Given the description of an element on the screen output the (x, y) to click on. 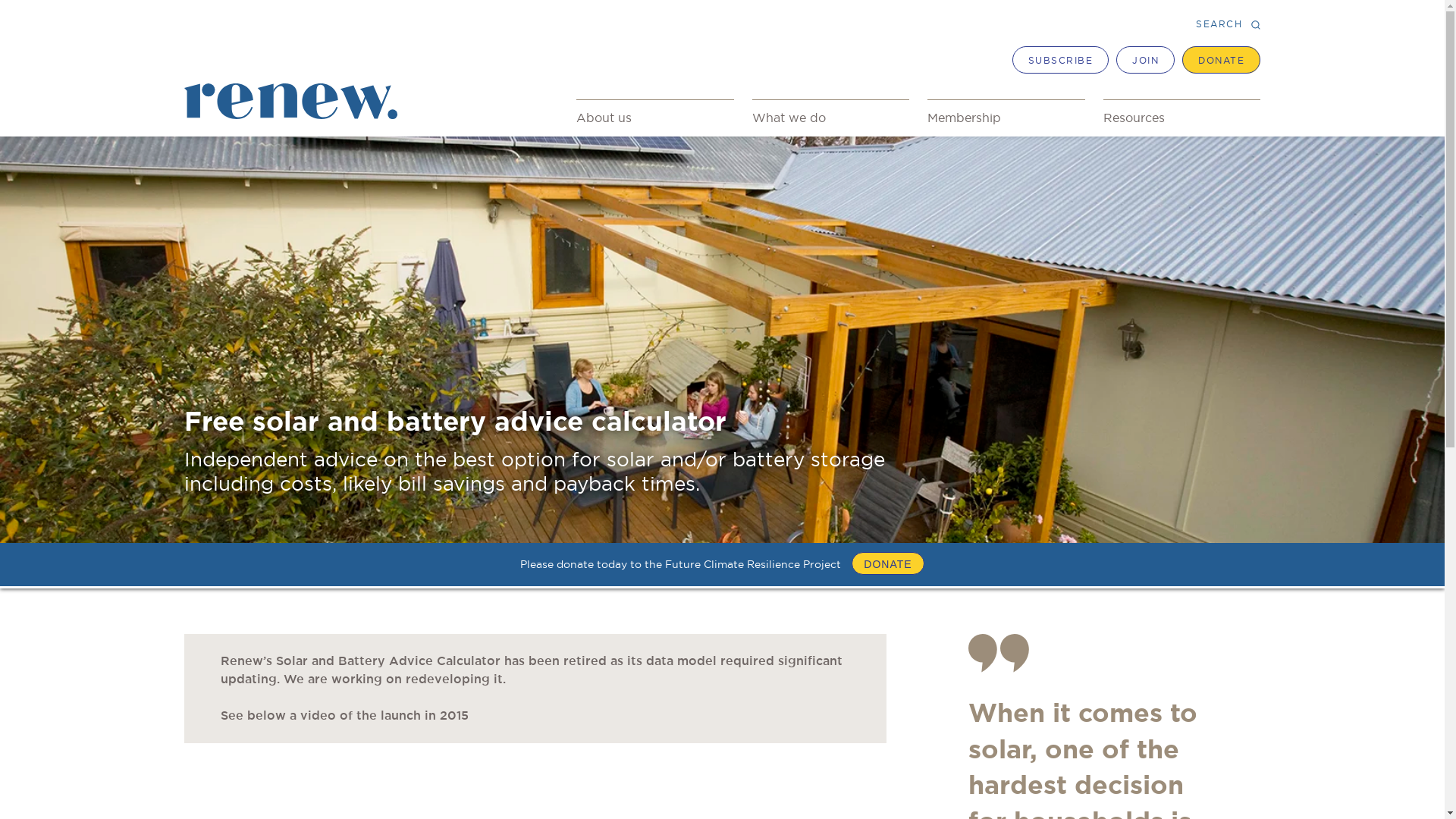
Resources Element type: text (1182, 117)
SEARCH Element type: text (1227, 24)
Membership Element type: text (1006, 117)
HOME Element type: text (201, 131)
What we do Element type: text (831, 117)
About us Element type: text (655, 117)
DONATE Element type: text (887, 563)
DONATE Element type: text (1221, 59)
JOIN Element type: text (1145, 59)
Back to home Element type: hover (347, 73)
SUBSCRIBE Element type: text (1060, 59)
